Given the description of an element on the screen output the (x, y) to click on. 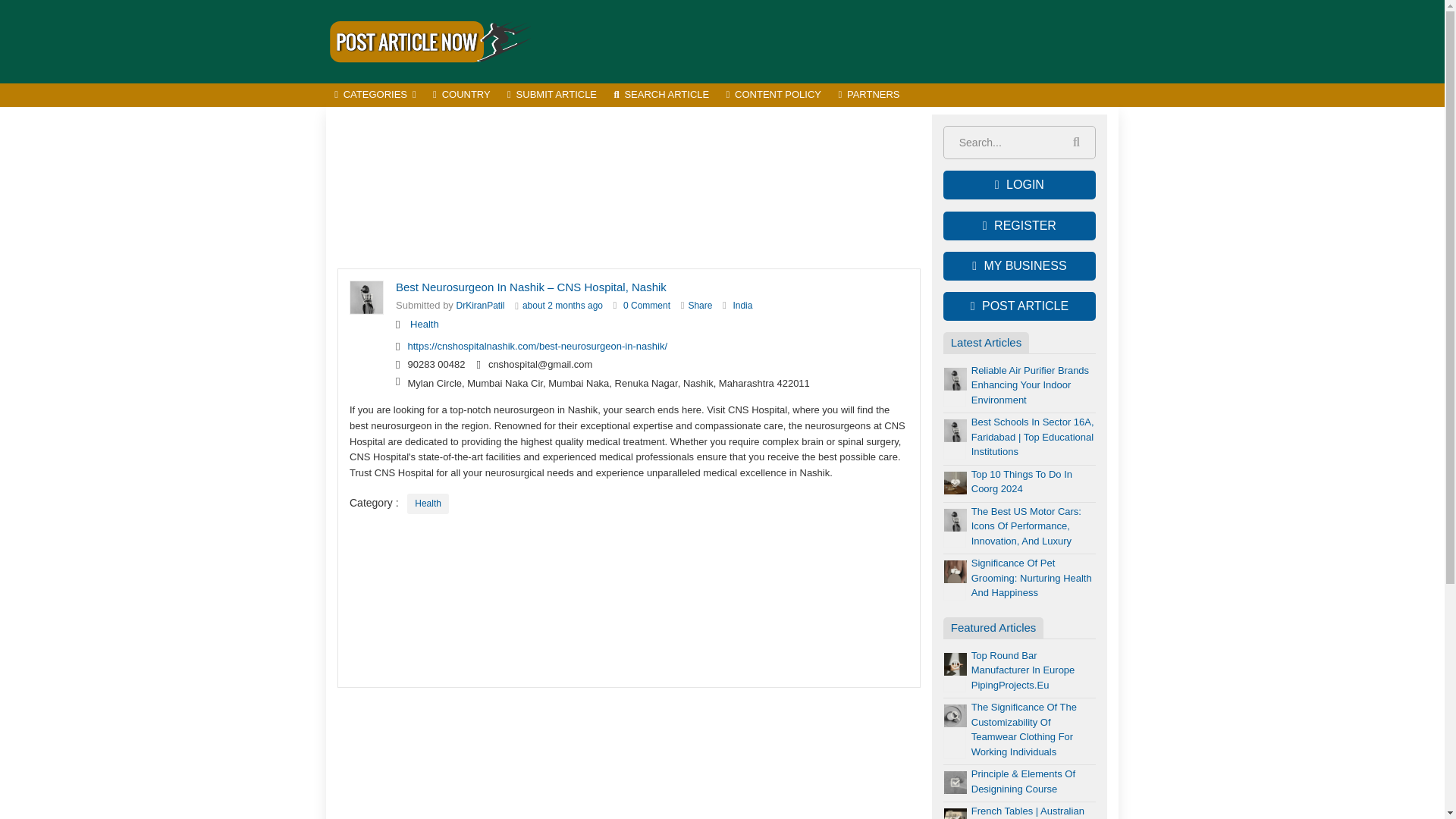
Advertisement (628, 187)
COUNTRY (462, 95)
REGISTER (1019, 225)
SEARCH ARTICLE (661, 95)
Health (427, 503)
CONTENT POLICY (773, 95)
Share (699, 305)
Health (424, 324)
about 2 months ago (562, 305)
about 2 months ago (562, 305)
DrKiranPatil (481, 305)
Health (424, 324)
Advertisement (842, 41)
MY BUSINESS (1019, 265)
LOGIN (1019, 184)
